Given the description of an element on the screen output the (x, y) to click on. 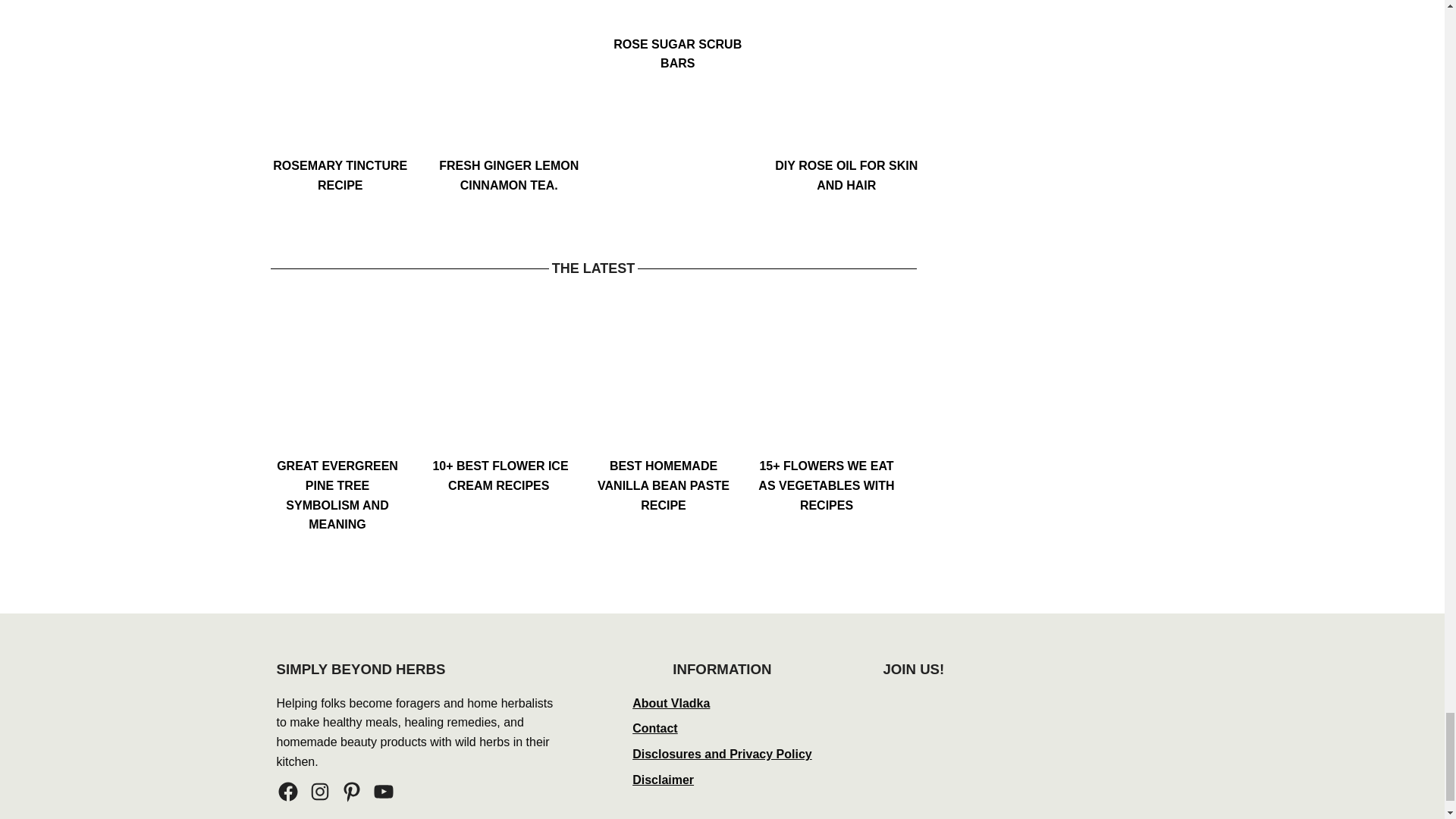
Rosemary tincture4 (339, 83)
rose oil (846, 83)
ginger cinnamon lemon tea (508, 83)
